Given the description of an element on the screen output the (x, y) to click on. 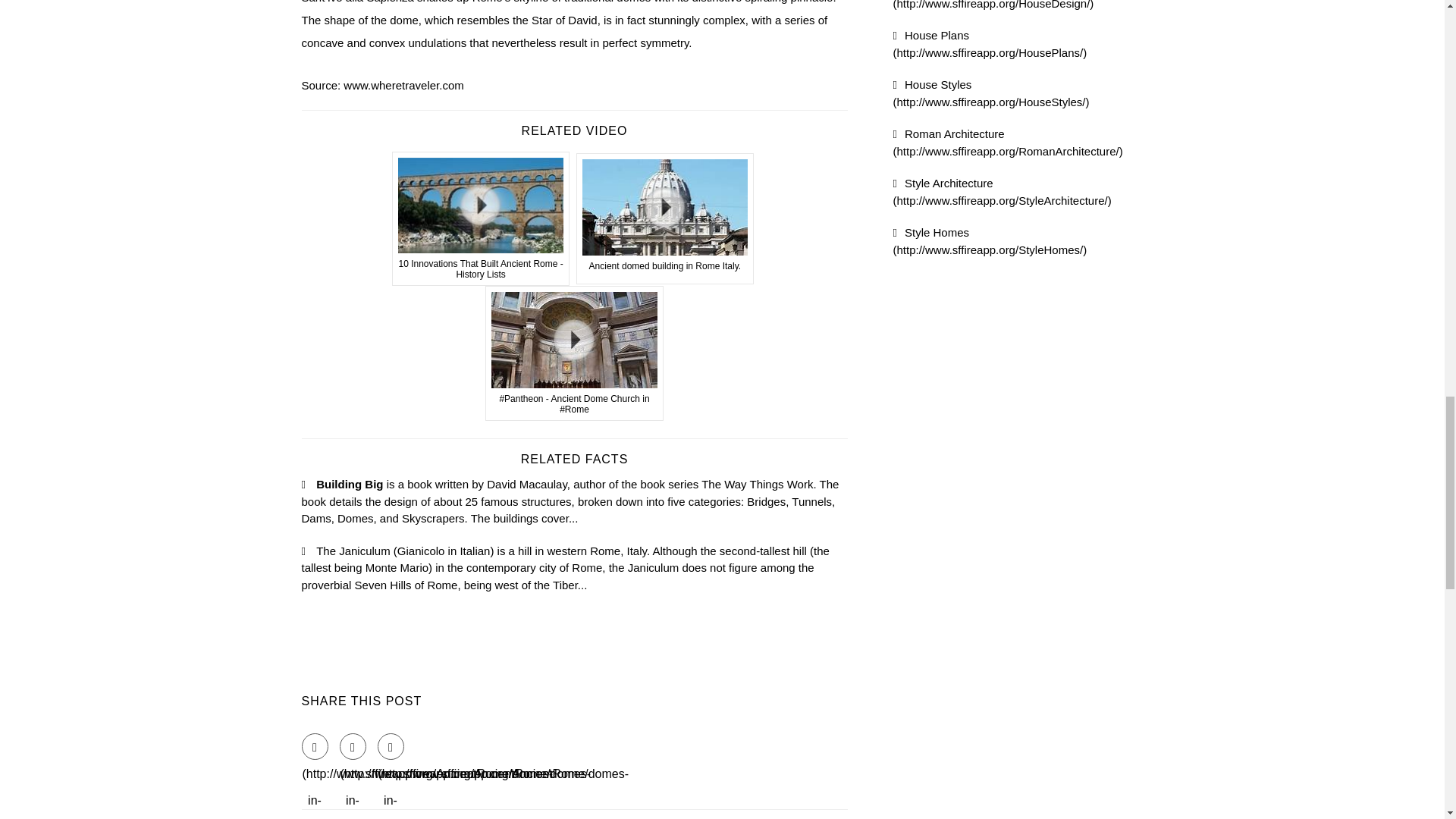
View this video from YouTube (573, 352)
View all posts filed under House Design (993, 4)
View all posts filed under House Styles (991, 92)
View all posts filed under House Plans (990, 43)
View all posts filed under Roman Architecture (1007, 142)
Google Plus (390, 746)
Twitter (352, 746)
Video temporarily unavailable (480, 218)
Facebook (315, 746)
View this video from YouTube (665, 218)
